Given the description of an element on the screen output the (x, y) to click on. 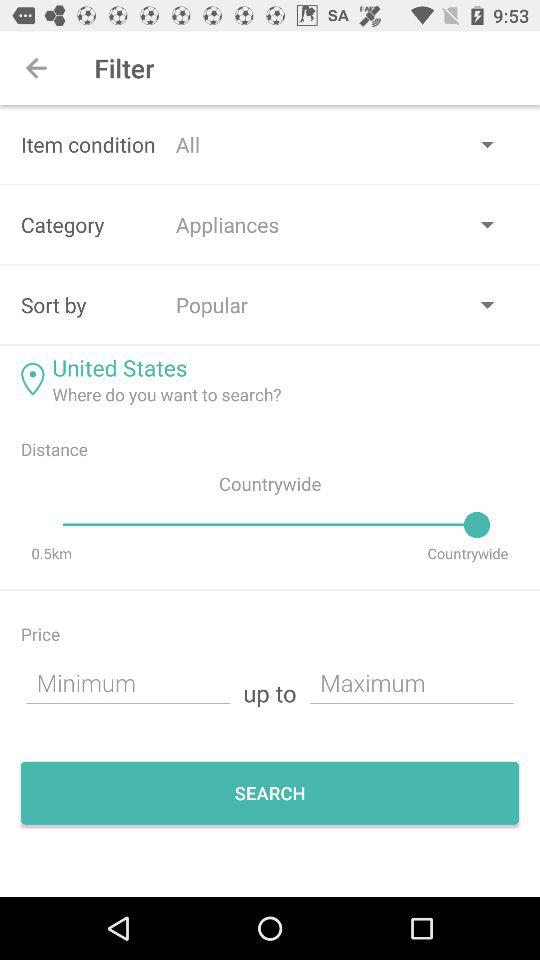
select minimum price (128, 682)
